Given the description of an element on the screen output the (x, y) to click on. 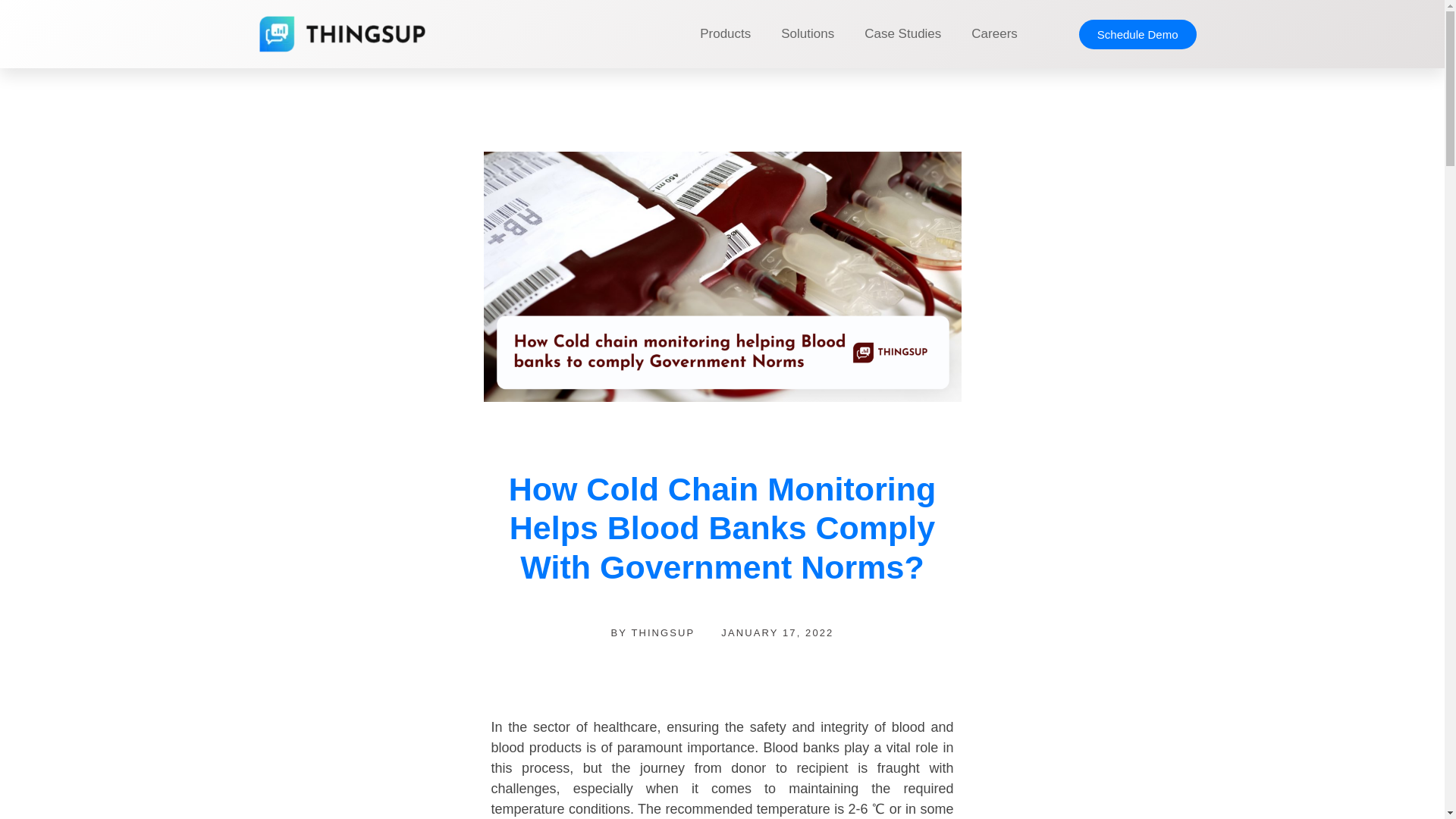
Products (724, 33)
Case Studies (902, 33)
Schedule Demo (1137, 34)
Careers (994, 33)
Solutions (806, 33)
